Given the description of an element on the screen output the (x, y) to click on. 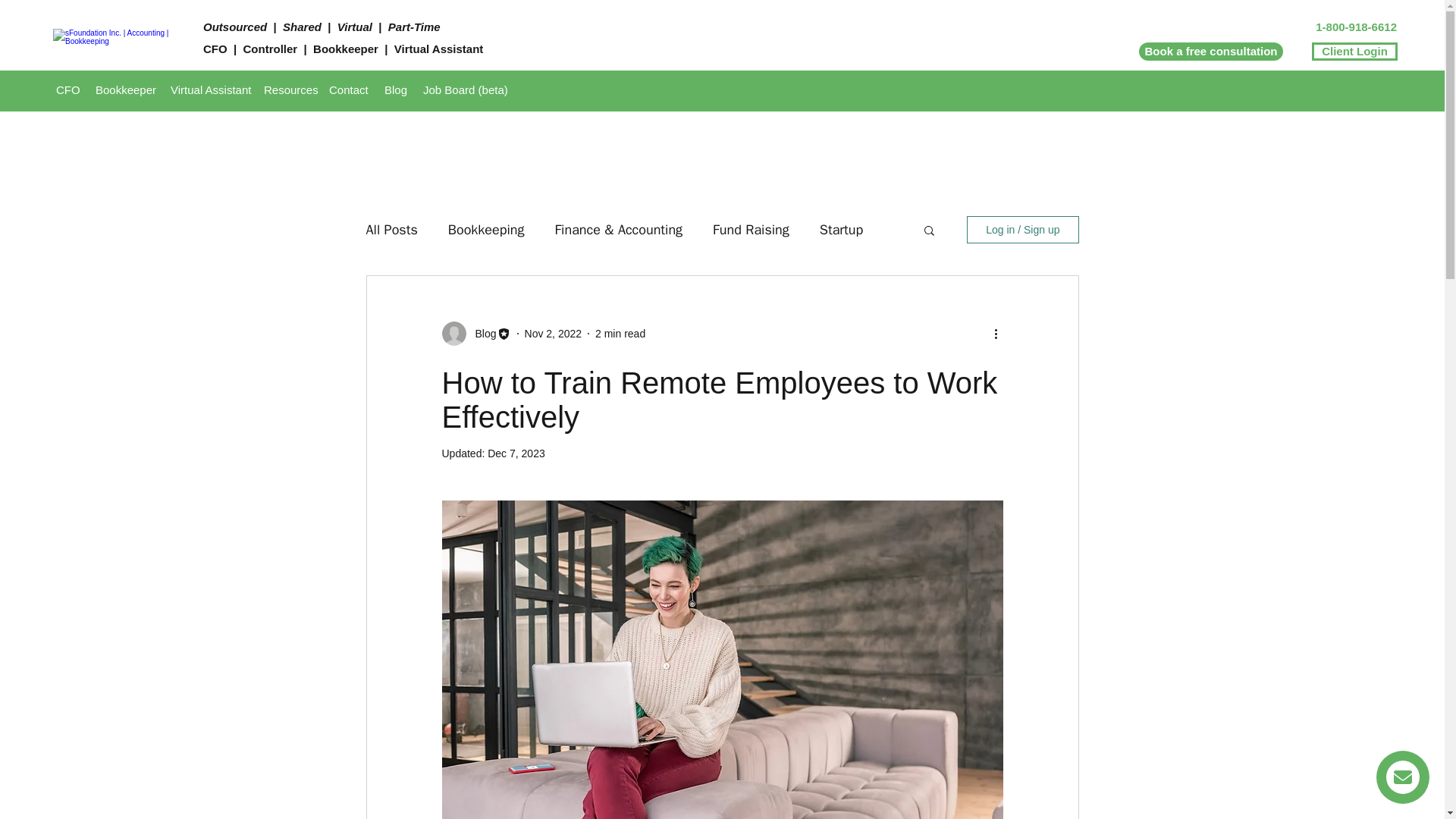
Blog (395, 89)
All Posts (390, 229)
Bookkeeping (486, 229)
Startup (841, 229)
Dec 7, 2023 (515, 453)
Bookkeeper (125, 89)
Blog (480, 333)
Resources (288, 89)
Fund Raising (751, 229)
Nov 2, 2022 (553, 333)
